Given the description of an element on the screen output the (x, y) to click on. 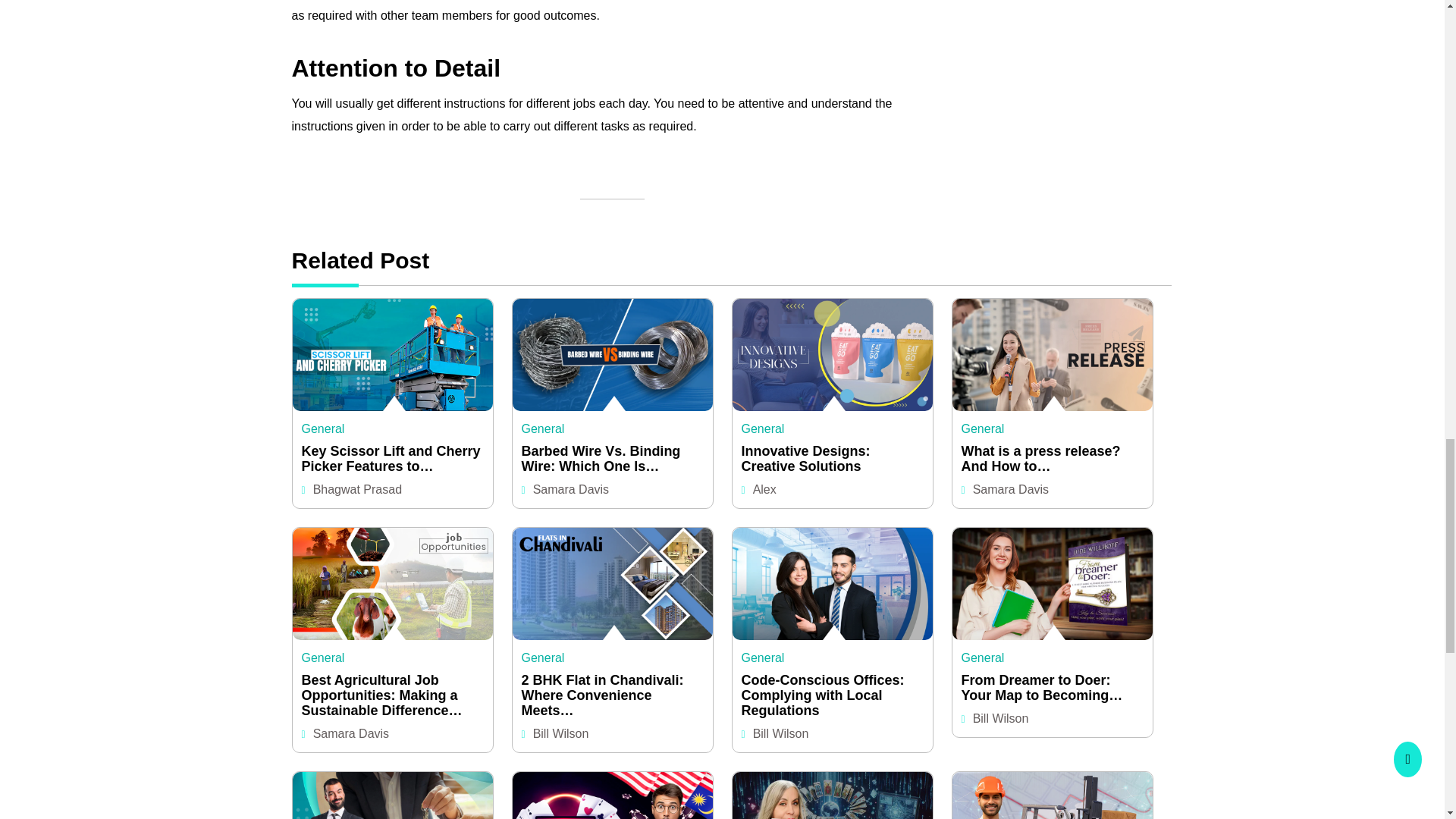
Bhagwat Prasad (357, 489)
General (323, 428)
